Given the description of an element on the screen output the (x, y) to click on. 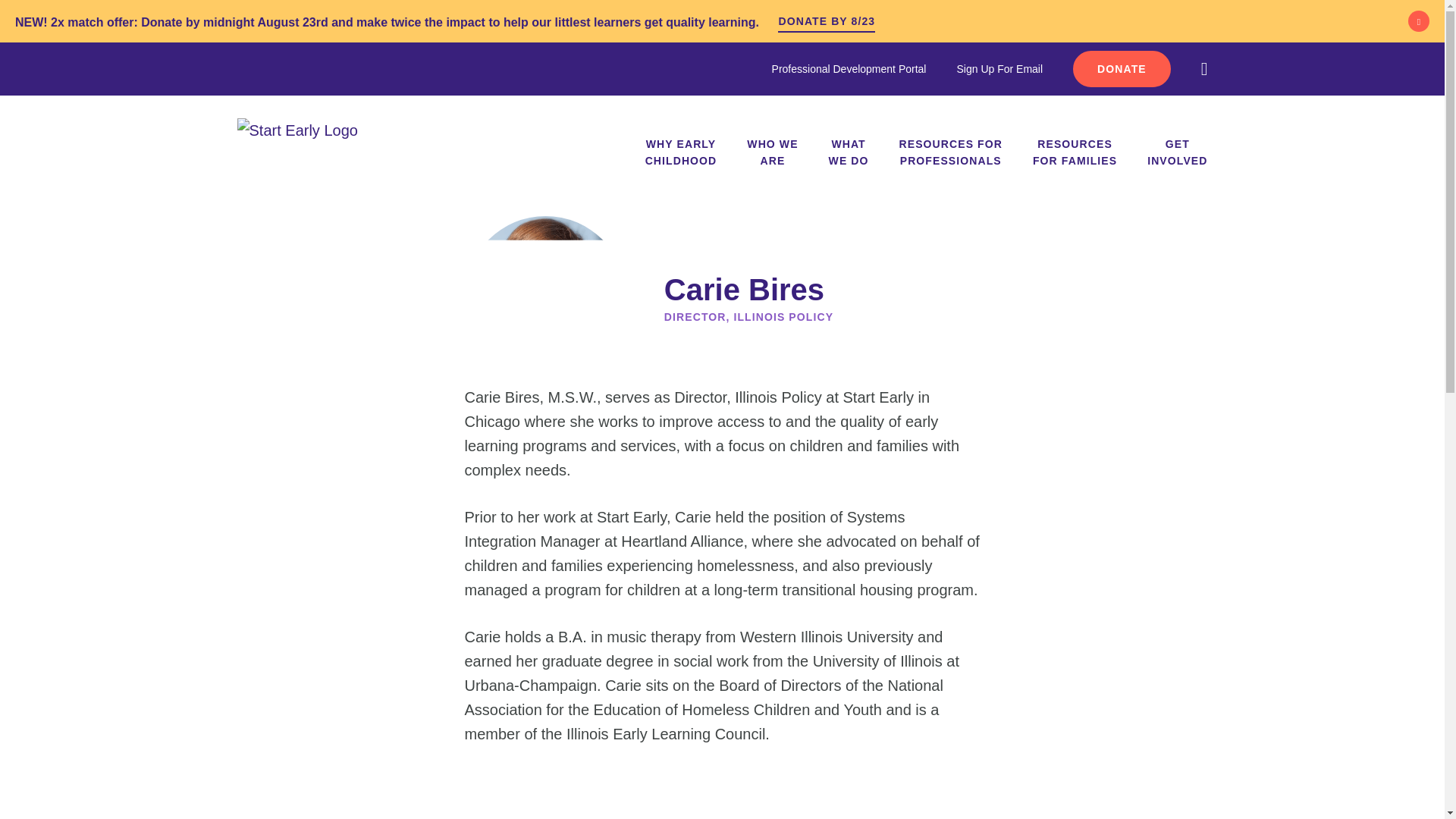
DONATE (681, 152)
Professional Development Portal (1121, 68)
Sign Up For Email (848, 68)
